Given the description of an element on the screen output the (x, y) to click on. 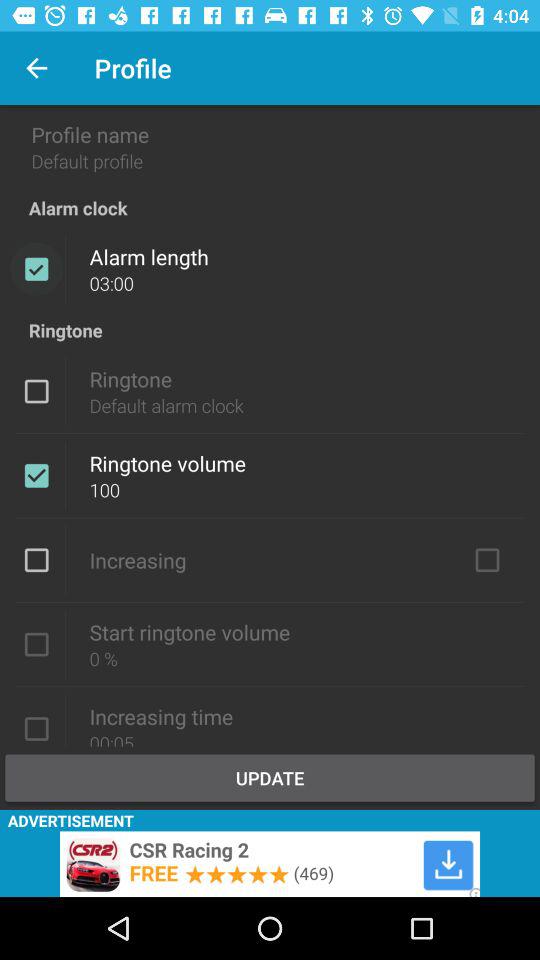
turn ringtone on/off (36, 475)
